Given the description of an element on the screen output the (x, y) to click on. 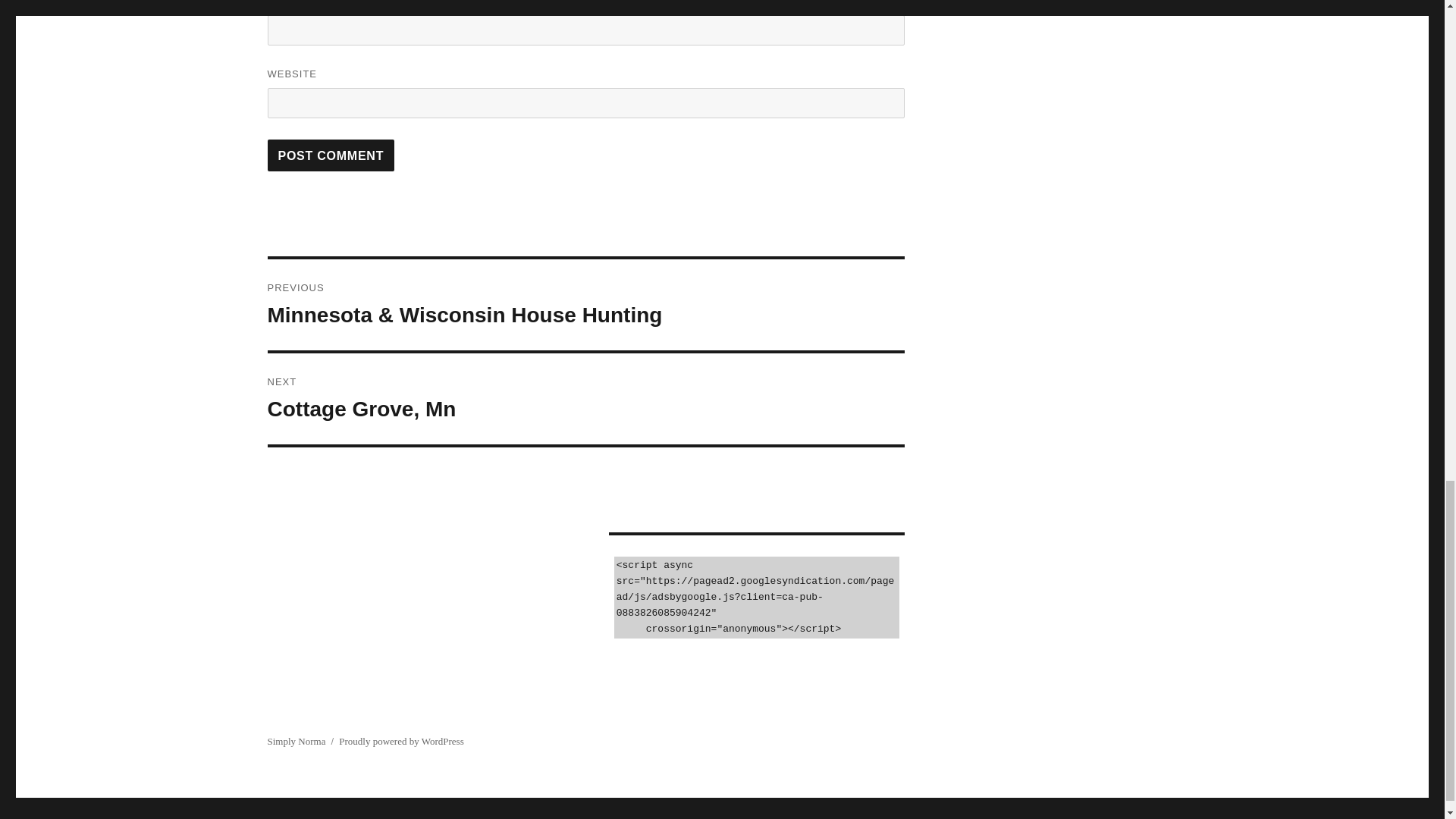
Post Comment (330, 155)
Proudly powered by WordPress (401, 740)
Simply Norma (295, 740)
Post Comment (585, 398)
